Given the description of an element on the screen output the (x, y) to click on. 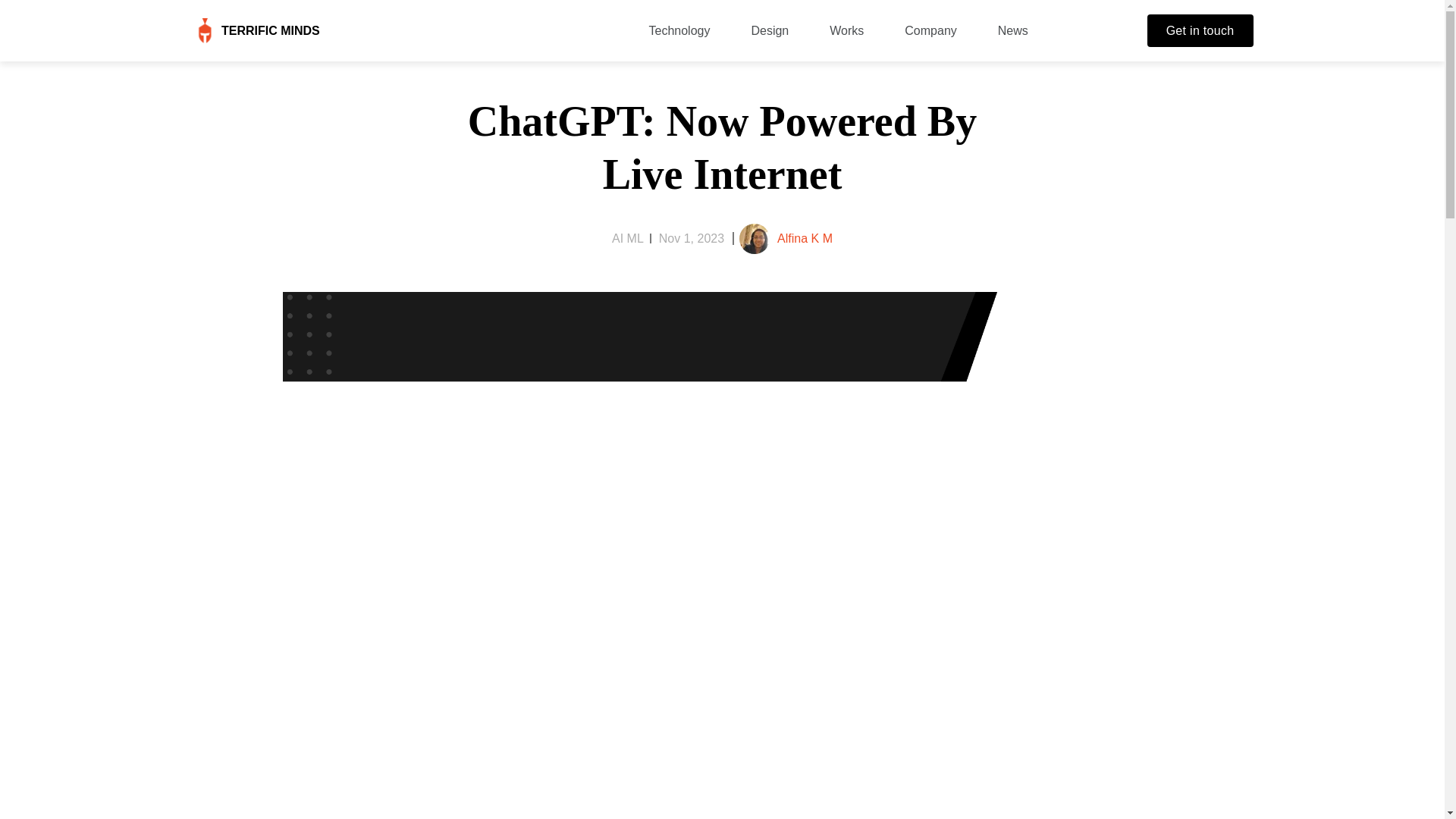
News (1012, 30)
Company (930, 30)
TERRIFIC MINDS (270, 30)
Get in touch (1200, 30)
Works (846, 30)
Terrific Minds Logo (203, 30)
Alfina K M (804, 238)
Technology (679, 30)
Design (770, 30)
AI ML (627, 237)
